Given the description of an element on the screen output the (x, y) to click on. 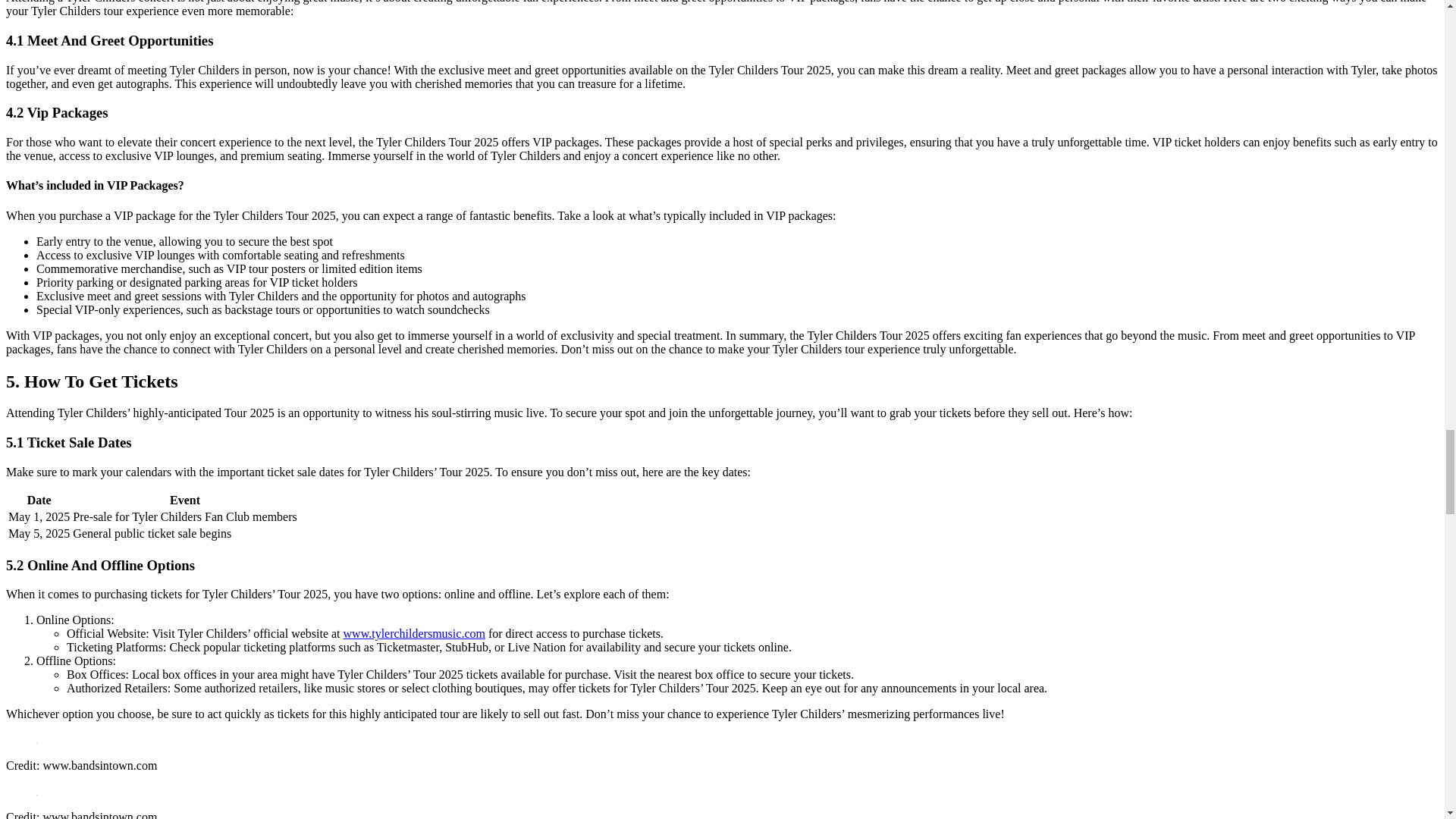
www.tylerchildersmusic.com (413, 633)
